Given the description of an element on the screen output the (x, y) to click on. 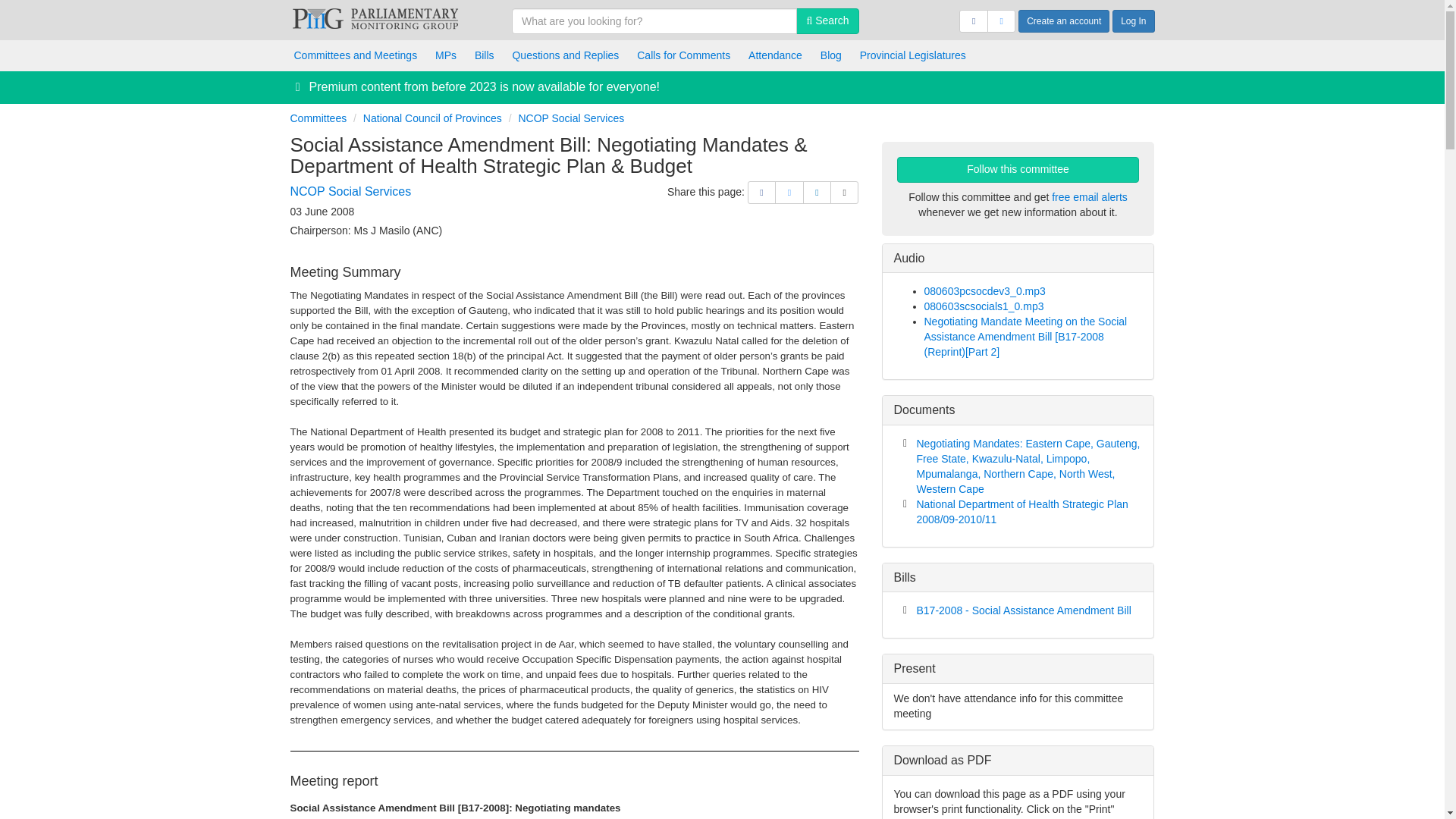
NCOP Social Services (571, 118)
MPs (446, 55)
Log In (1133, 20)
Blog (830, 55)
Create an account (1063, 20)
Questions and Replies (564, 55)
Provincial Legislatures (912, 55)
NCOP Social Services (349, 191)
Calls for Comments (683, 55)
Attendance (775, 55)
Committees (317, 118)
Bills (484, 55)
Committees and Meetings (355, 55)
Search (827, 21)
